Given the description of an element on the screen output the (x, y) to click on. 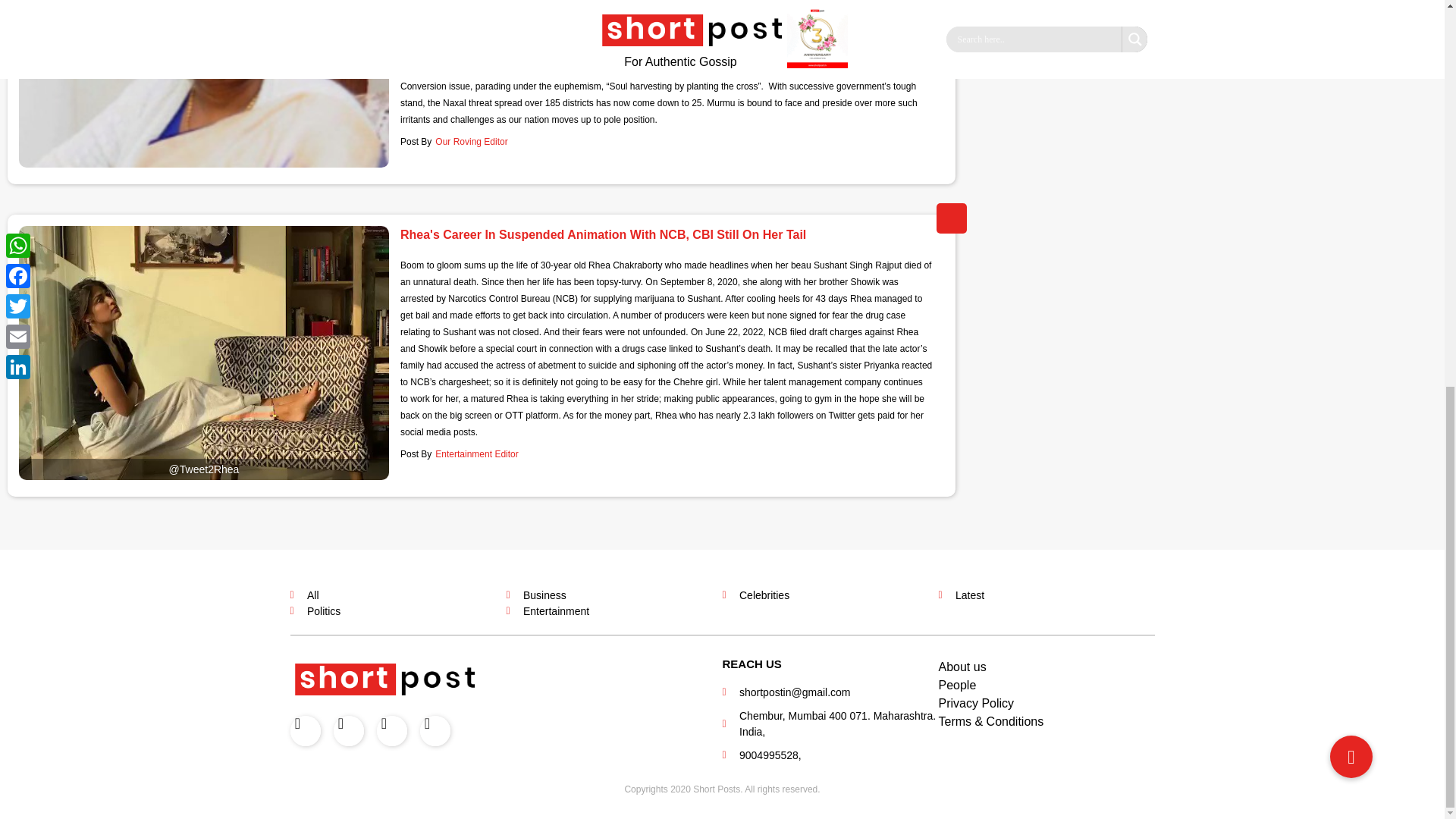
This Droupadi Is All Set To Preside Over Maha Bharat (203, 83)
